Given the description of an element on the screen output the (x, y) to click on. 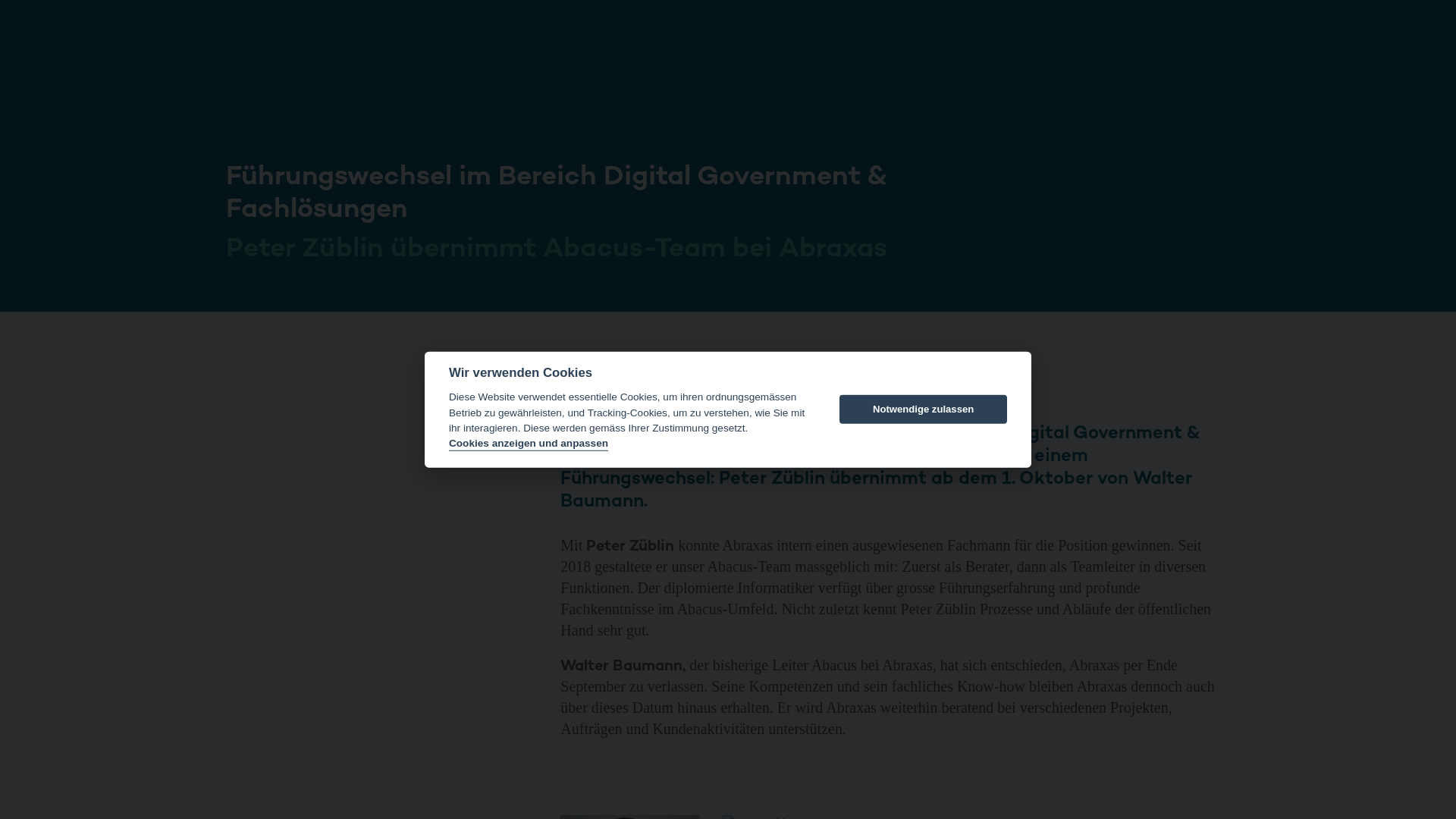
Cookies anzeigen und anpassen Element type: text (528, 443)
Notwendige zulassen Element type: text (923, 409)
